Given the description of an element on the screen output the (x, y) to click on. 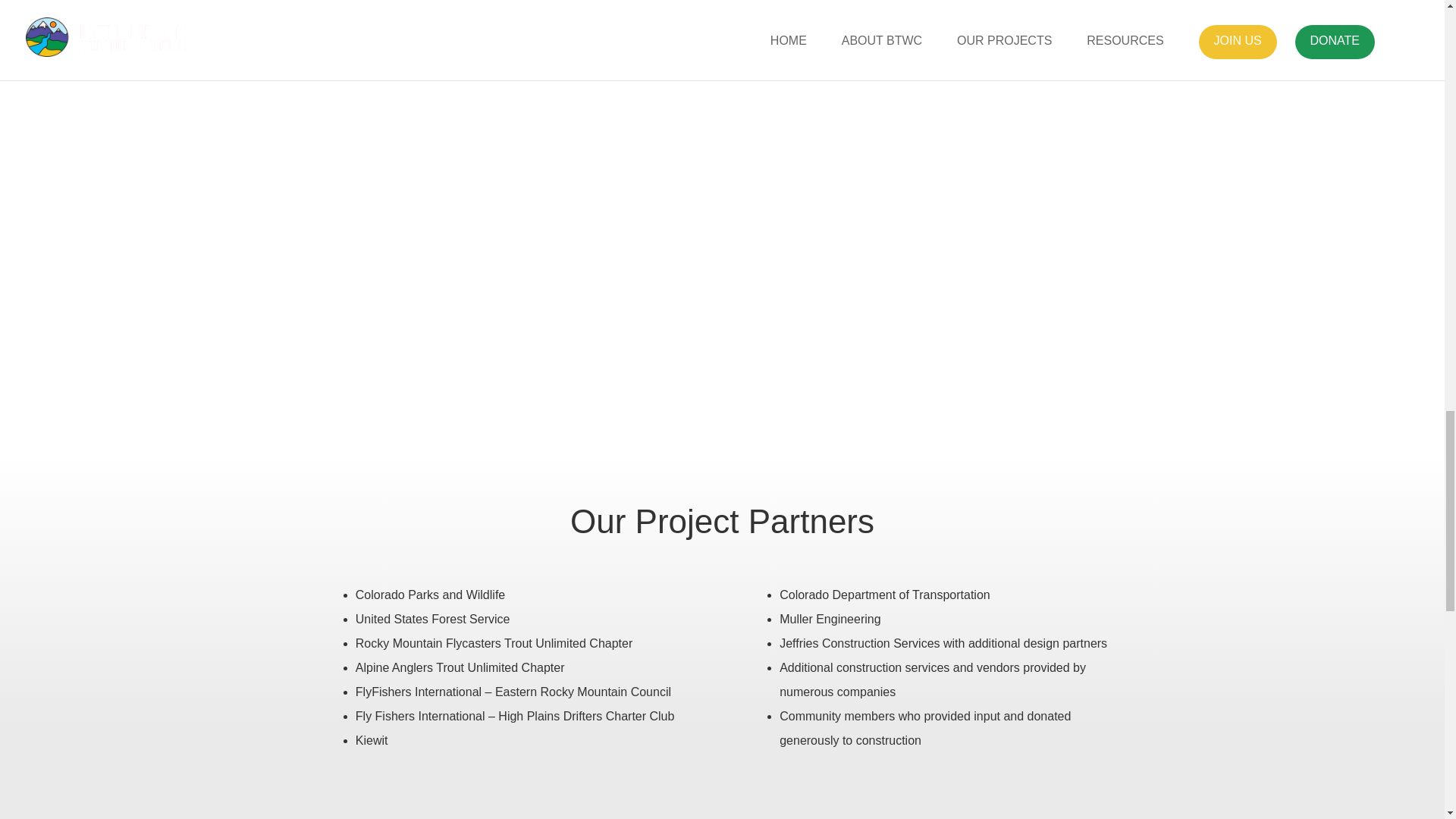
Kiewit (371, 739)
Muller Engineering (829, 618)
Rocky Mountain Flycasters Trout Unlimited Chapter (493, 643)
Fly Fishers International (419, 716)
Colorado Department of Transportation (884, 594)
United States Forest Service (433, 618)
Alpine Anglers Trout Unlimited Chapter (459, 667)
Colorado Parks and Wildlife (430, 594)
FlyFishers International (418, 691)
